Given the description of an element on the screen output the (x, y) to click on. 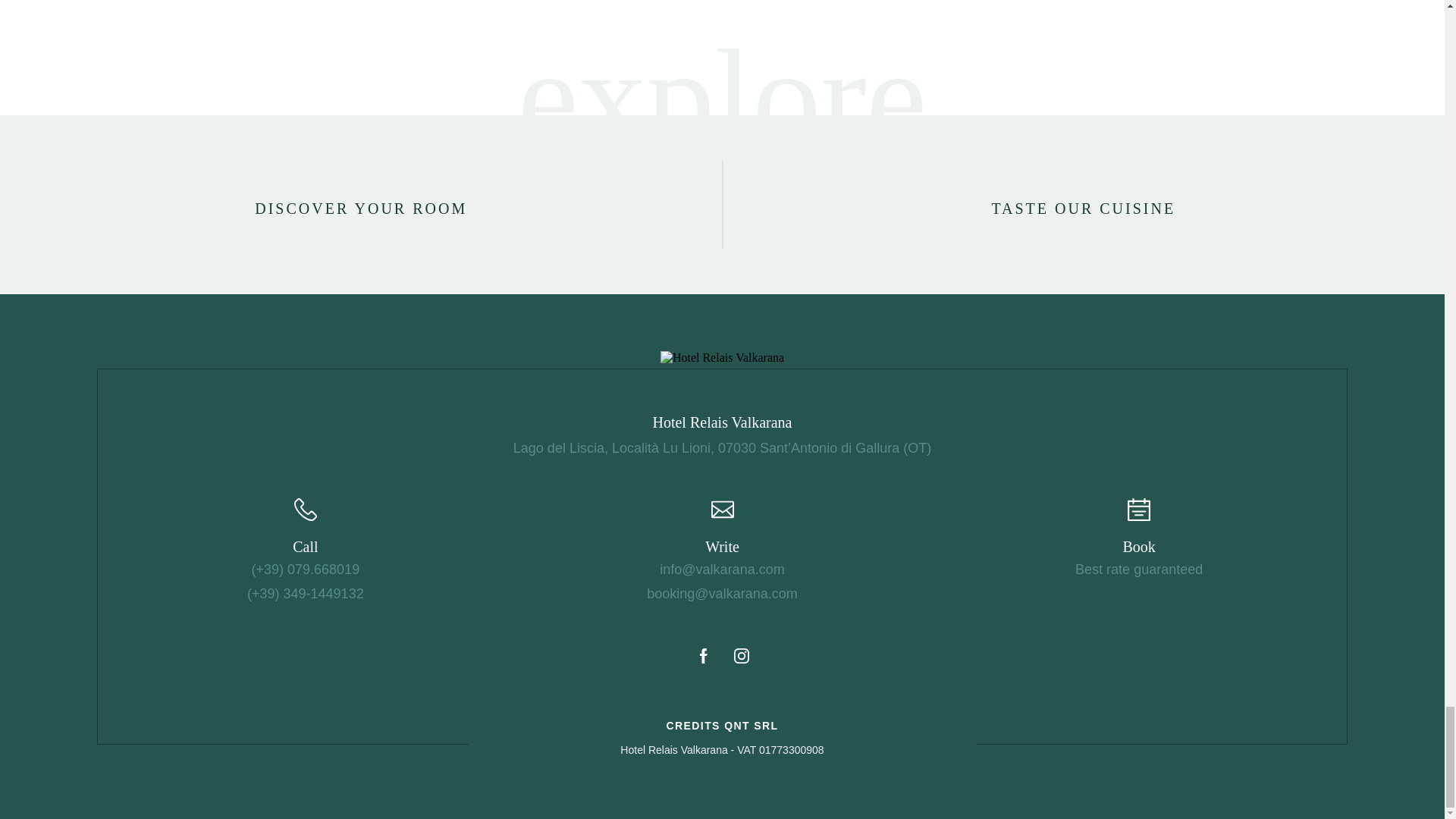
CREDITS QNT SRL (722, 725)
DISCOVER YOUR ROOM (361, 204)
Best rate guaranteed (1138, 569)
